Given the description of an element on the screen output the (x, y) to click on. 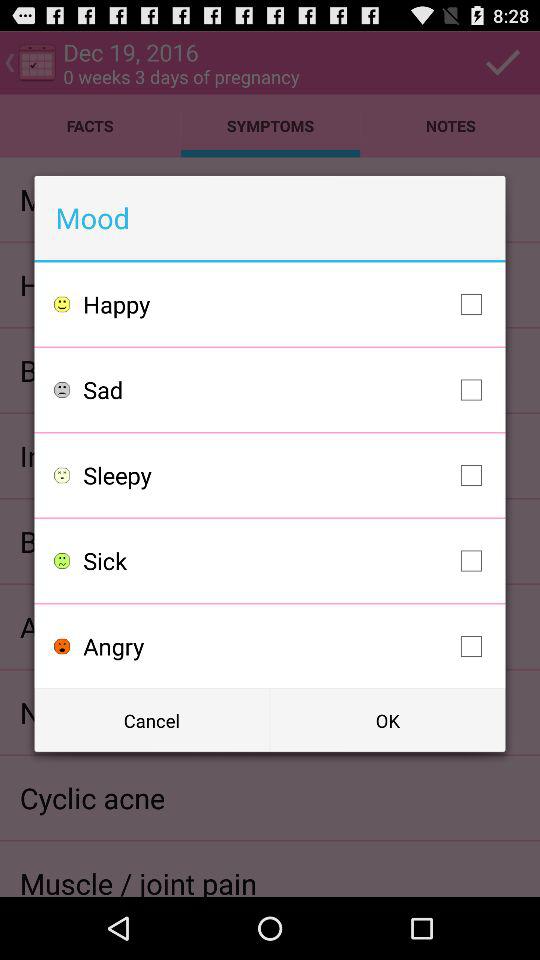
jump to the sleepy (287, 475)
